Given the description of an element on the screen output the (x, y) to click on. 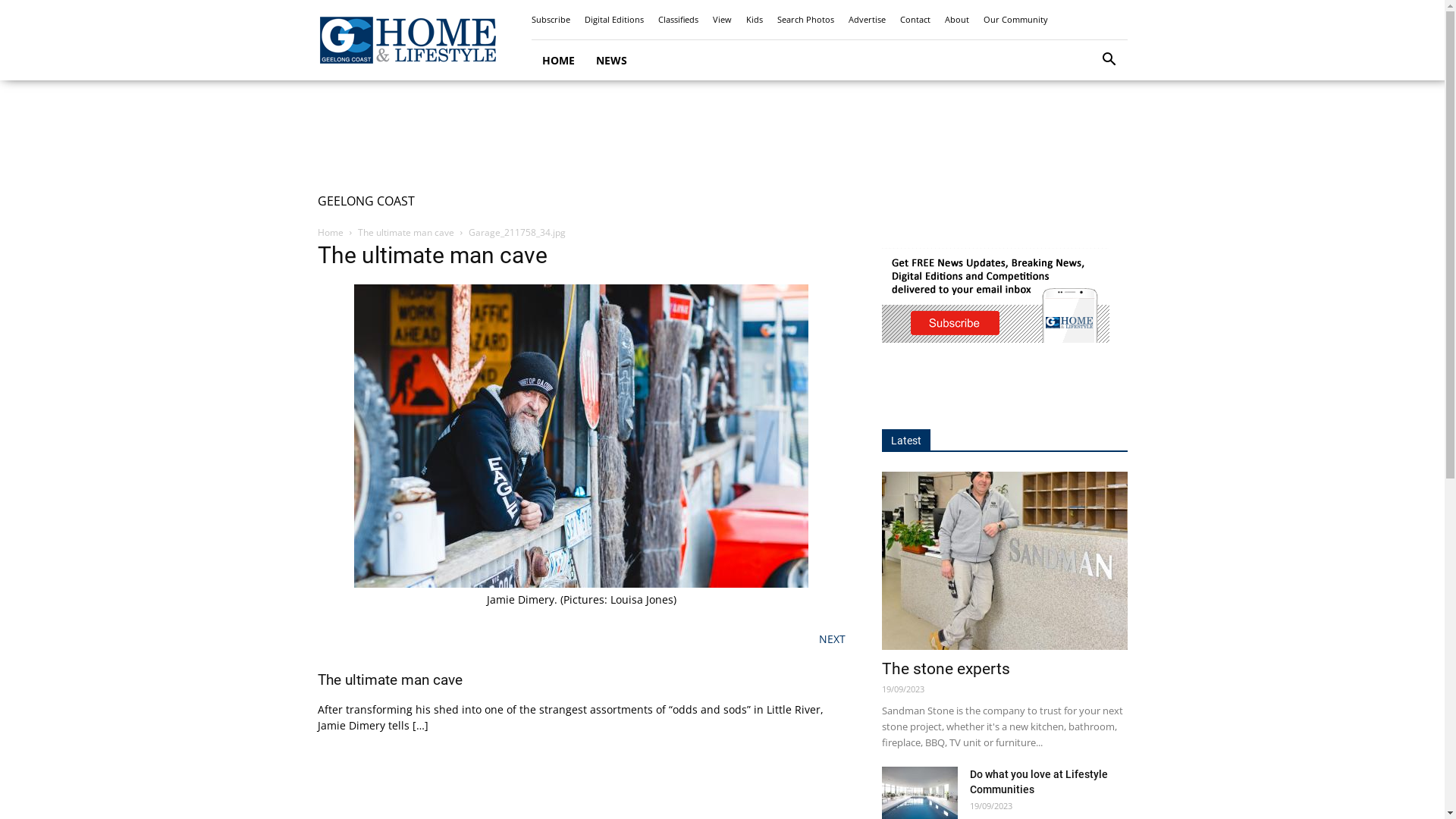
Contact Element type: text (914, 19)
NEWS Element type: text (611, 60)
Search Photos Element type: text (804, 19)
Classifieds Element type: text (678, 19)
HOME Element type: text (557, 60)
Our Community Element type: text (1014, 19)
The stone experts Element type: hover (1003, 560)
The ultimate man cave Element type: text (388, 679)
NEXT Element type: text (832, 638)
Do what you love at Lifestyle Communities Element type: text (1038, 781)
About Element type: text (956, 19)
View Element type: text (721, 19)
Kids Element type: text (754, 19)
Digital Editions Element type: text (613, 19)
Subscribe Element type: text (549, 19)
Search Element type: text (1085, 122)
Advertise Element type: text (865, 19)
Garage_211758_34.jpg Element type: hover (581, 583)
The stone experts Element type: text (945, 668)
Home Element type: text (329, 231)
The ultimate man cave Element type: text (405, 231)
